Given the description of an element on the screen output the (x, y) to click on. 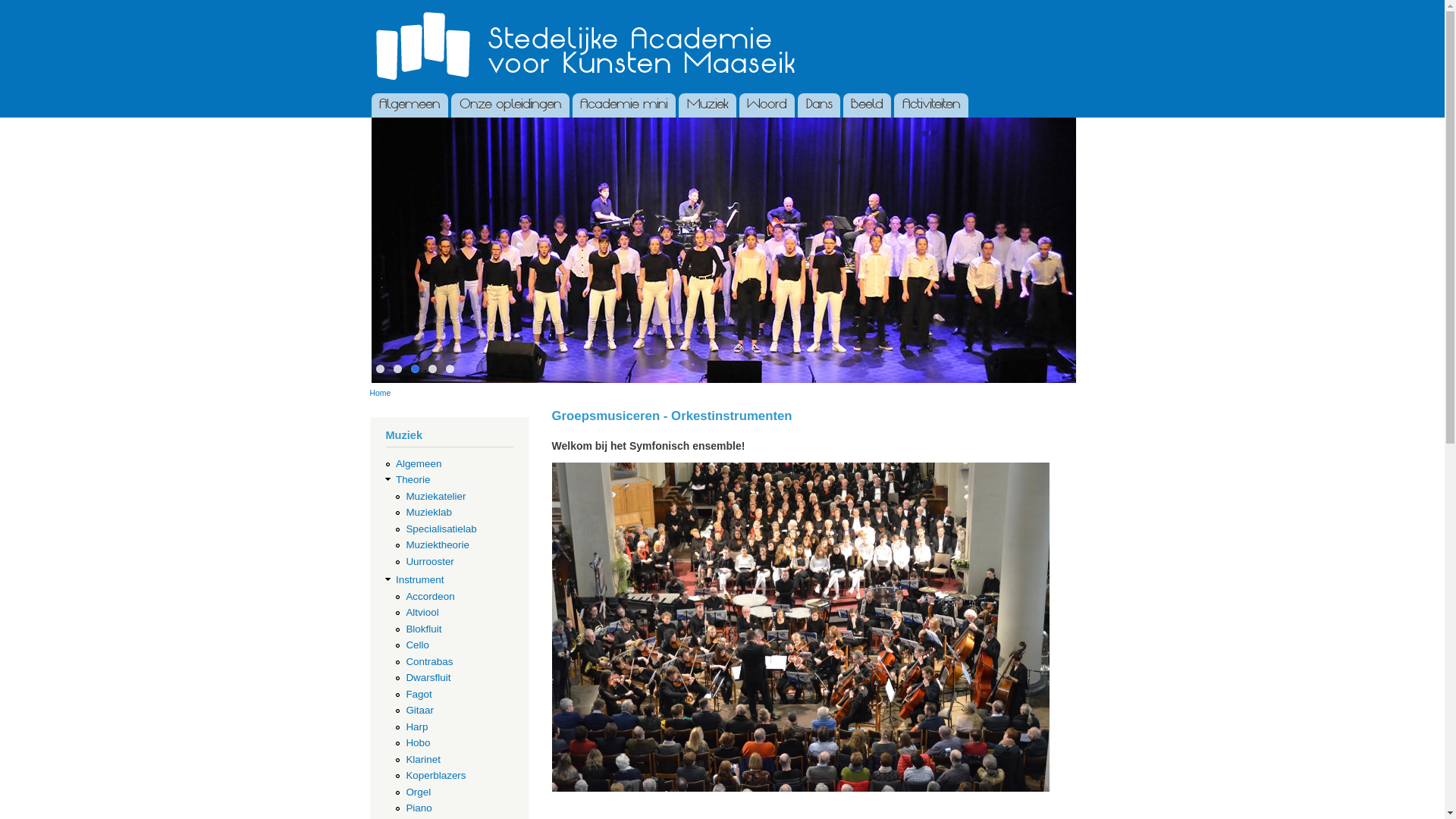
Academie mini Element type: text (623, 105)
Blokfluit Element type: text (423, 628)
Accordeon Element type: text (429, 596)
Theorie Element type: text (412, 479)
Contrabas Element type: text (428, 661)
Uurrooster Element type: text (429, 561)
Dwarsfluit Element type: text (427, 677)
Cello Element type: text (417, 644)
Orgel Element type: text (417, 791)
Fagot Element type: text (418, 693)
Instrument Element type: text (419, 579)
Algemeen Element type: text (409, 105)
Klarinet Element type: text (422, 759)
4 Element type: text (432, 368)
Muzieklab Element type: text (428, 511)
Woord Element type: text (766, 105)
Muziekatelier Element type: text (435, 496)
Piano Element type: text (418, 807)
Gitaar Element type: text (419, 709)
Altviool Element type: text (421, 612)
Home Element type: text (380, 393)
Muziektheorie Element type: text (437, 544)
Dans Element type: text (818, 105)
Onze opleidingen Element type: text (510, 105)
Overslaan en naar de algemene inhoud gaan Element type: text (703, 1)
Algemeen Element type: text (418, 463)
Muziek Element type: text (707, 105)
Beeld Element type: text (867, 105)
1 Element type: text (380, 368)
Harp Element type: text (416, 726)
3 Element type: text (415, 368)
Hobo Element type: text (417, 742)
2 Element type: text (397, 368)
Koperblazers Element type: text (435, 775)
Activiteiten Element type: text (931, 105)
Specialisatielab Element type: text (440, 528)
5 Element type: text (449, 368)
Home Element type: hover (577, 46)
